Given the description of an element on the screen output the (x, y) to click on. 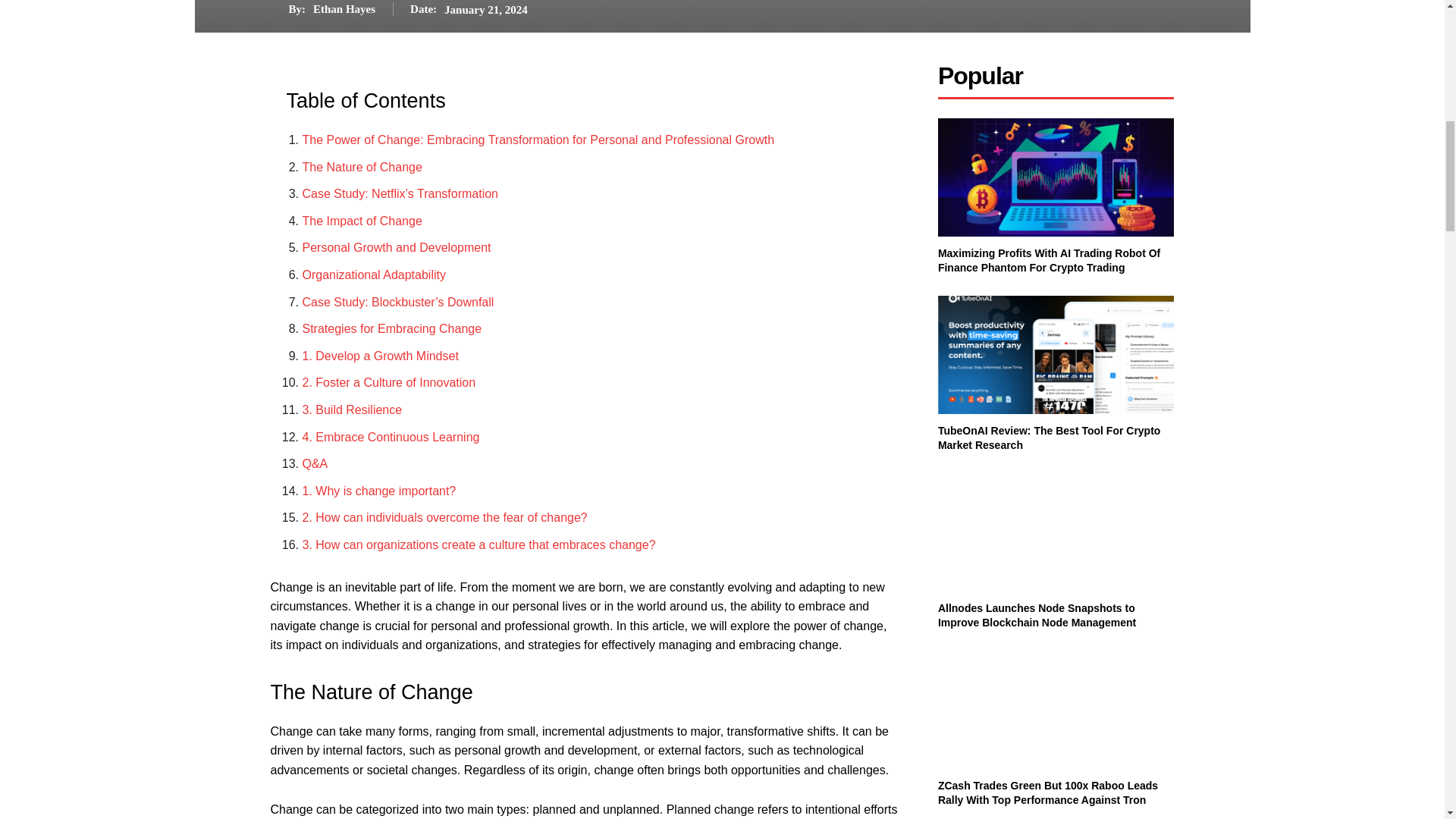
TubeOnAI Review: The Best Tool For Crypto Market Research (1048, 438)
TubeOnAI Review: The Best Tool For Crypto Market Research (1055, 354)
The Nature of Change (361, 166)
